Given the description of an element on the screen output the (x, y) to click on. 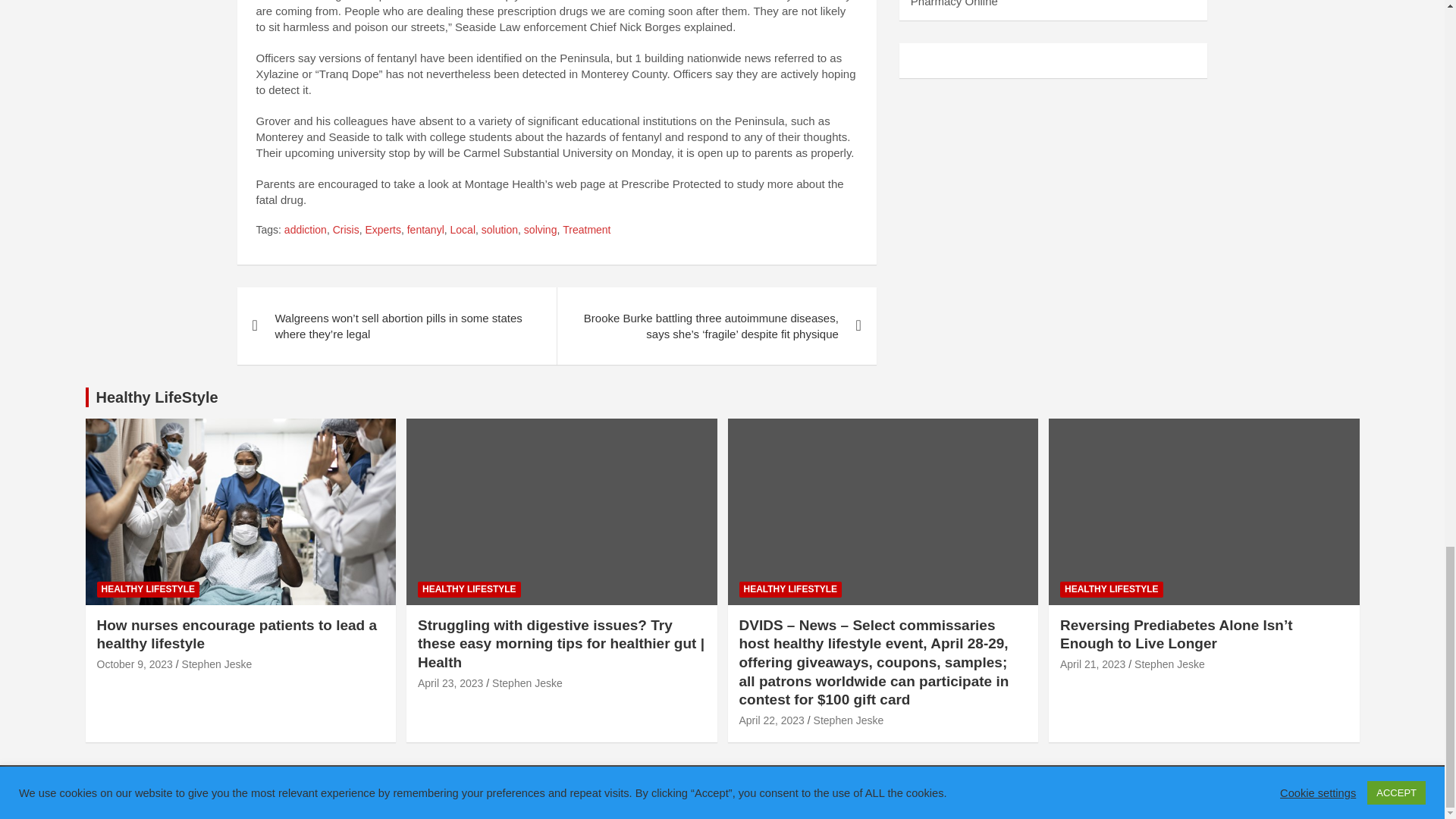
WordPress (691, 791)
solving (540, 230)
Theme Horse (505, 791)
How nurses encourage patients to lead a healthy lifestyle (135, 664)
solution (499, 230)
addiction (304, 230)
Crisis (346, 230)
fentanyl (425, 230)
Experts (382, 230)
Health Addiction Treatment (245, 791)
Treatment (586, 230)
Local (462, 230)
